Given the description of an element on the screen output the (x, y) to click on. 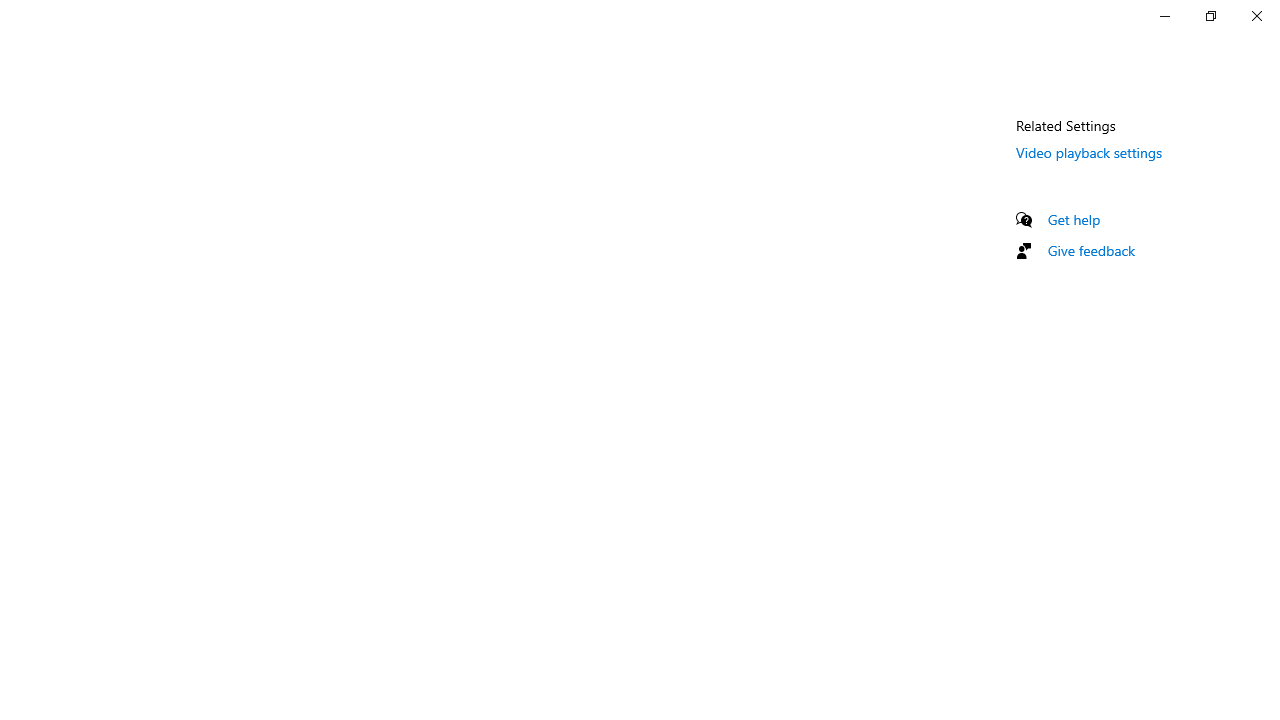
Close Settings (1256, 15)
Video playback settings (1089, 152)
Give feedback (1091, 250)
Minimize Settings (1164, 15)
Restore Settings (1210, 15)
Get help (1074, 219)
